Given the description of an element on the screen output the (x, y) to click on. 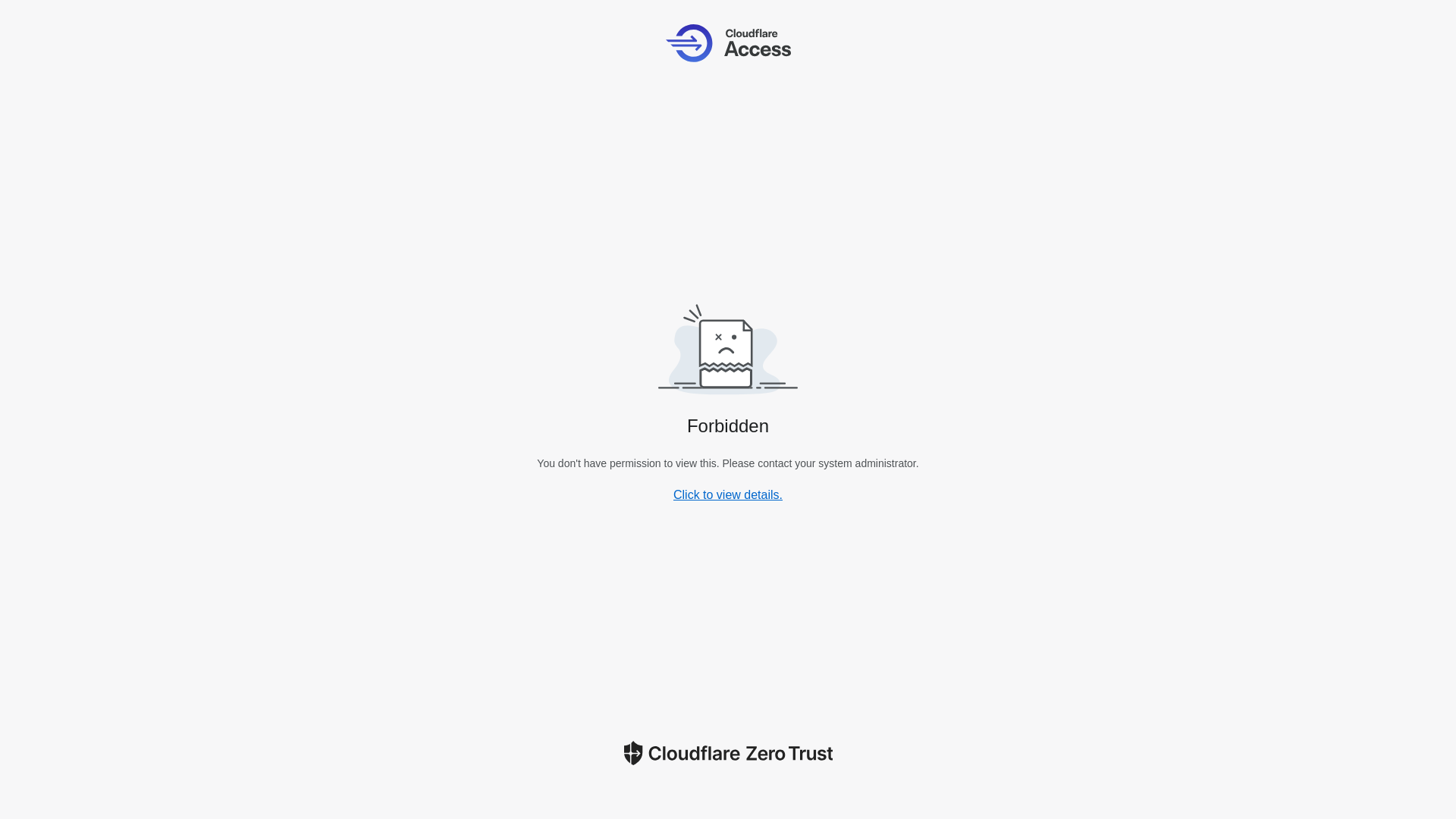
Click to view details. Element type: text (727, 494)
